Given the description of an element on the screen output the (x, y) to click on. 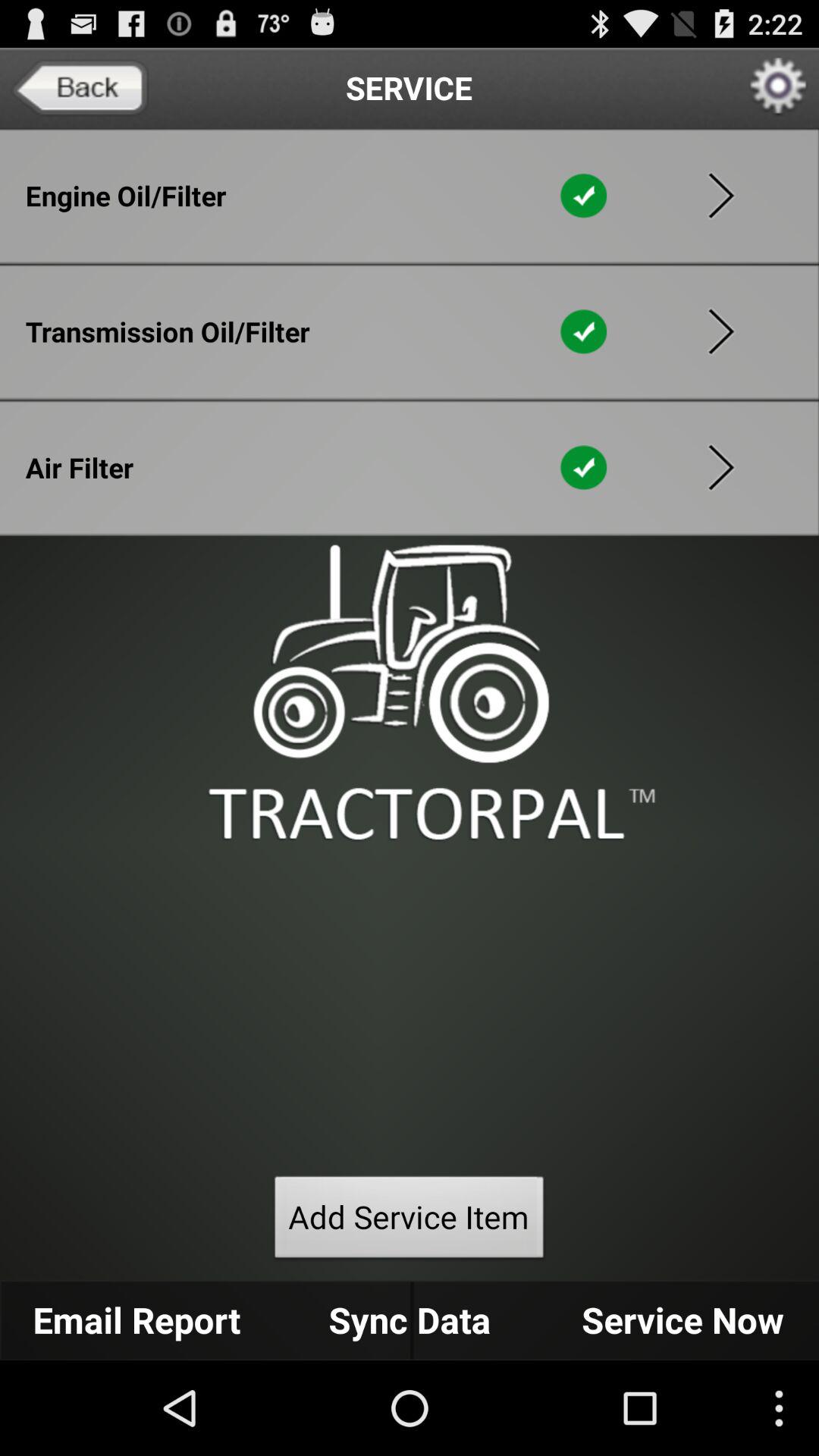
go to forword (721, 467)
